Given the description of an element on the screen output the (x, y) to click on. 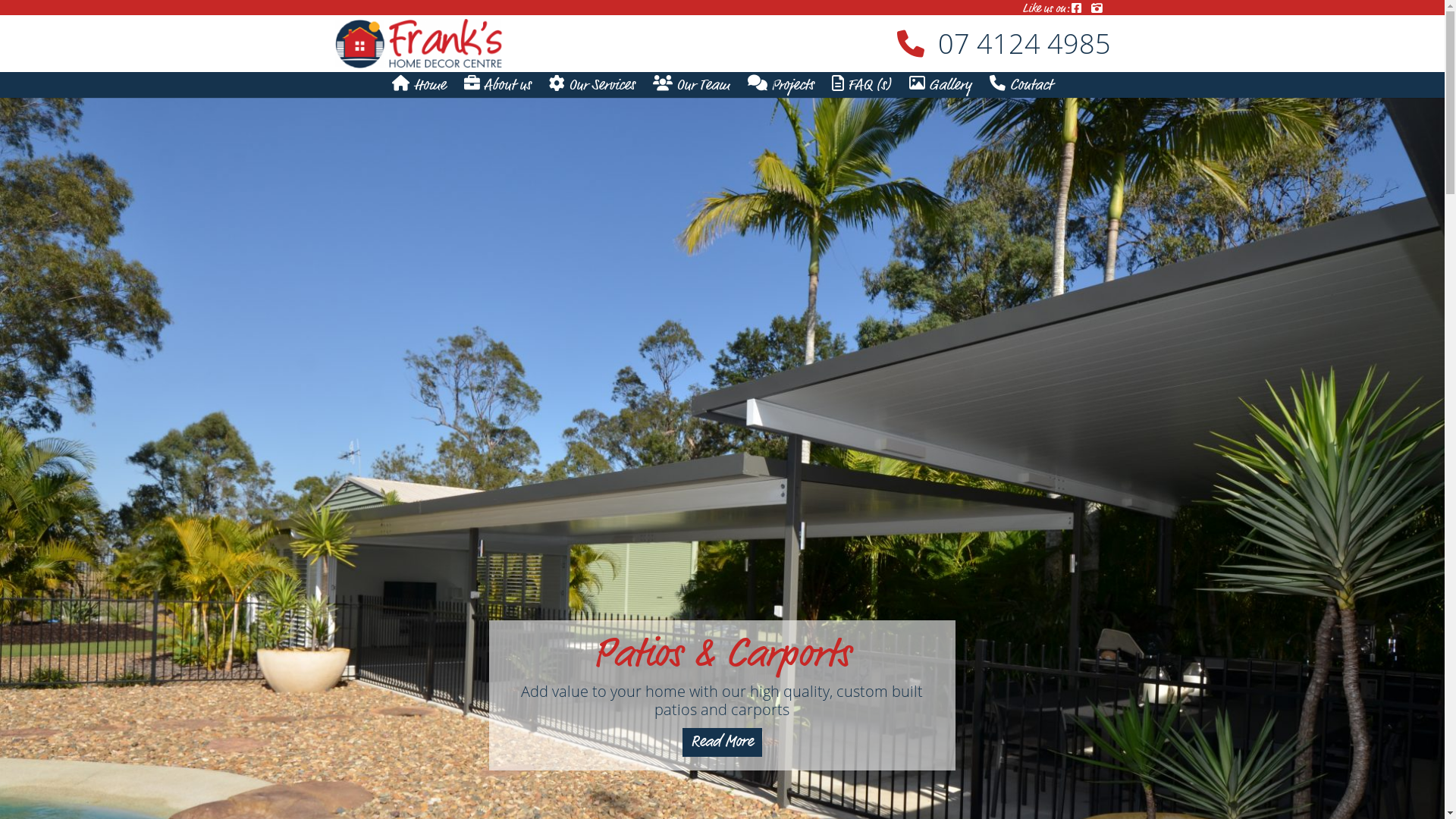
Home Element type: text (418, 85)
Projects Element type: text (780, 85)
Contact Element type: text (1020, 85)
07 4124 4985 Element type: text (721, 43)
About us Element type: text (496, 85)
Read More Element type: text (721, 742)
Franks Home Decor Element type: text (375, 135)
FAQ (s) Element type: text (861, 85)
Our Services Element type: text (591, 84)
Gallery Element type: text (940, 85)
Our Team Element type: text (691, 85)
